Given the description of an element on the screen output the (x, y) to click on. 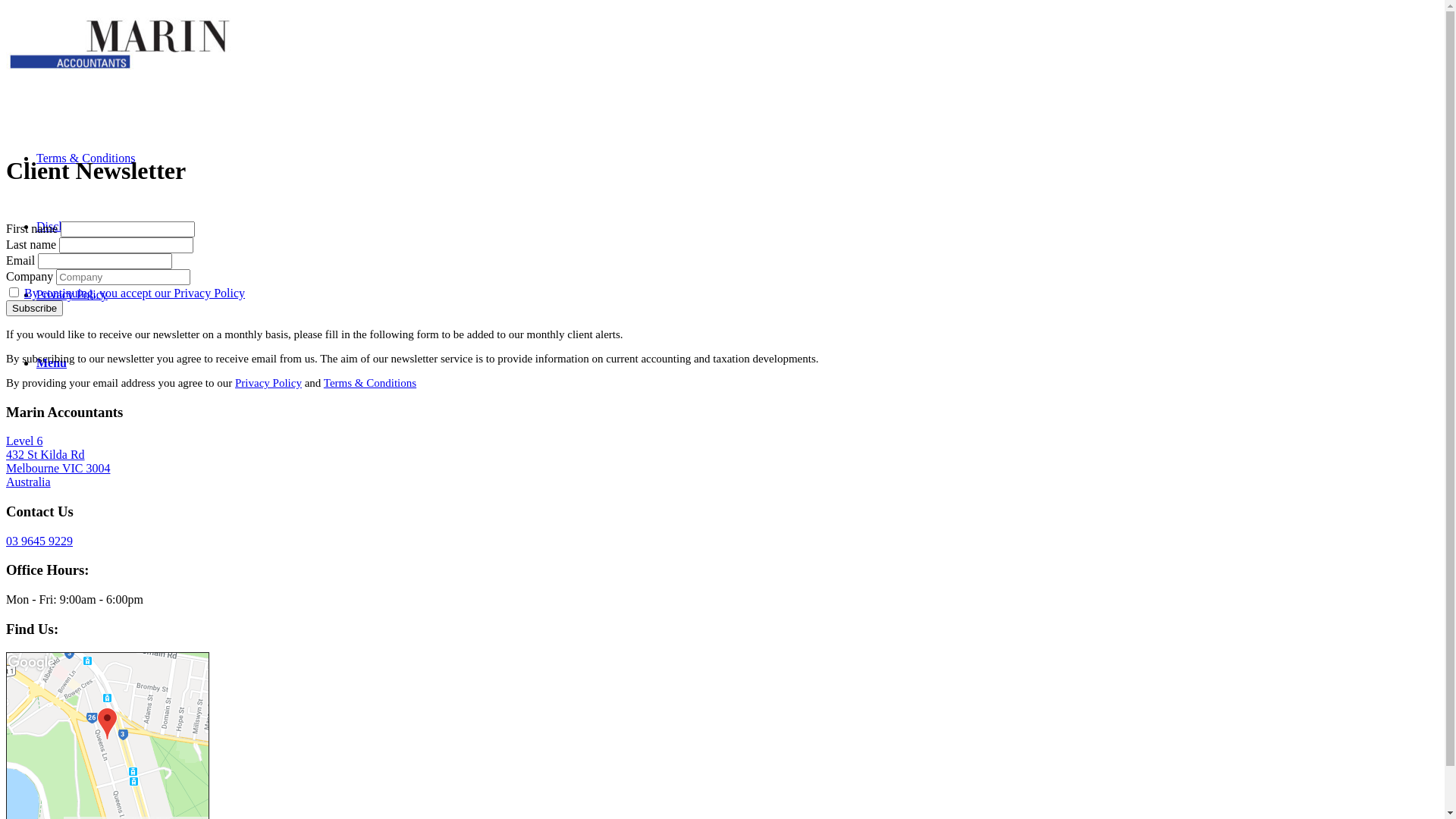
Disclaimer Element type: text (62, 225)
03 9645 9229 Element type: text (39, 540)
Subscribe Element type: text (34, 308)
Privacy Policy Element type: text (71, 294)
Terms & Conditions Element type: text (369, 382)
Level 6
432 St Kilda Rd
Melbourne VIC 3004
Australia Element type: text (57, 461)
Privacy Policy Element type: text (268, 382)
Terms & Conditions Element type: text (85, 157)
Menu Element type: text (51, 362)
By continuing, you accept our Privacy Policy Element type: text (134, 292)
